Given the description of an element on the screen output the (x, y) to click on. 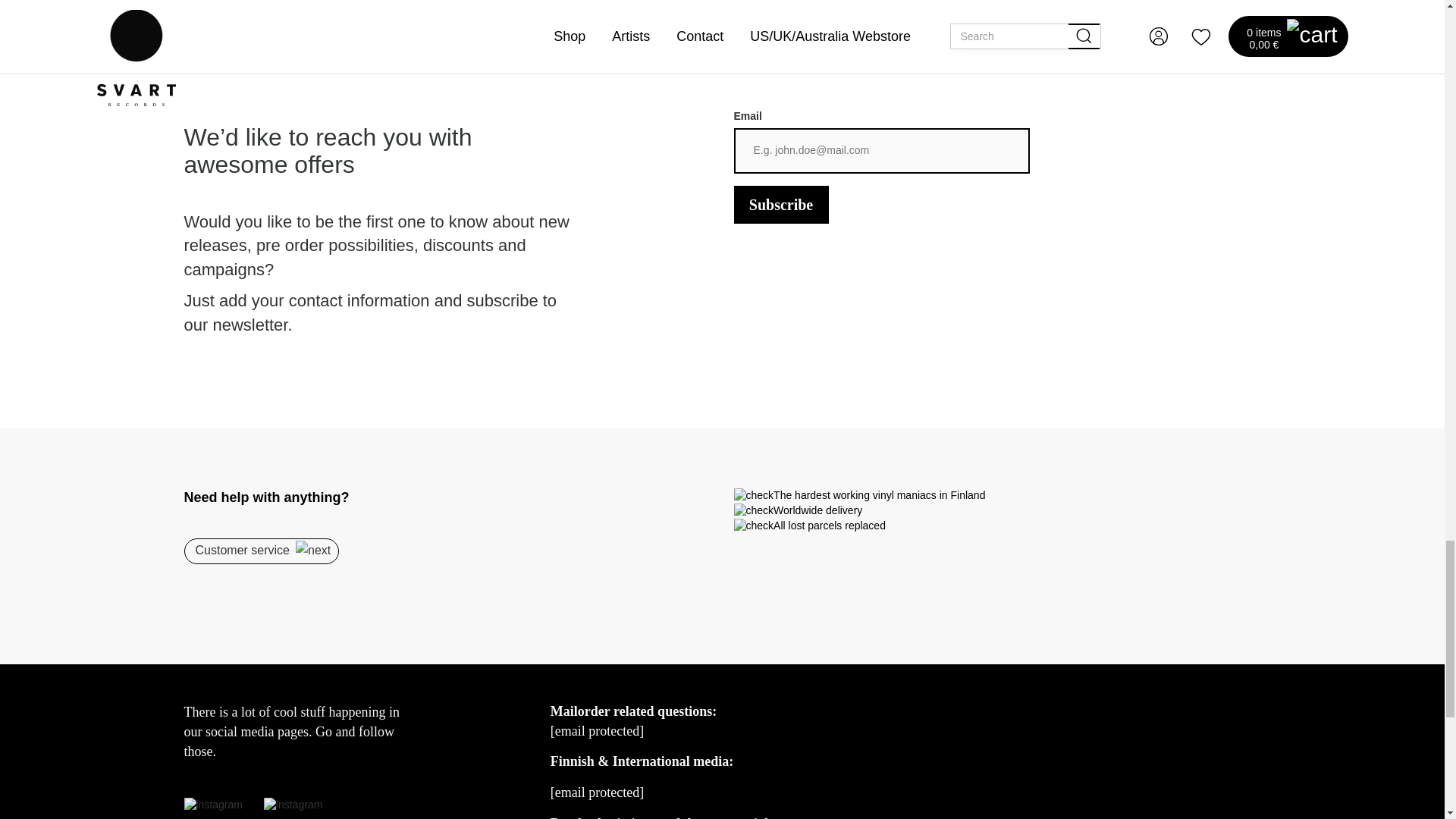
check (753, 495)
check (753, 510)
check (753, 525)
next (312, 550)
